Given the description of an element on the screen output the (x, y) to click on. 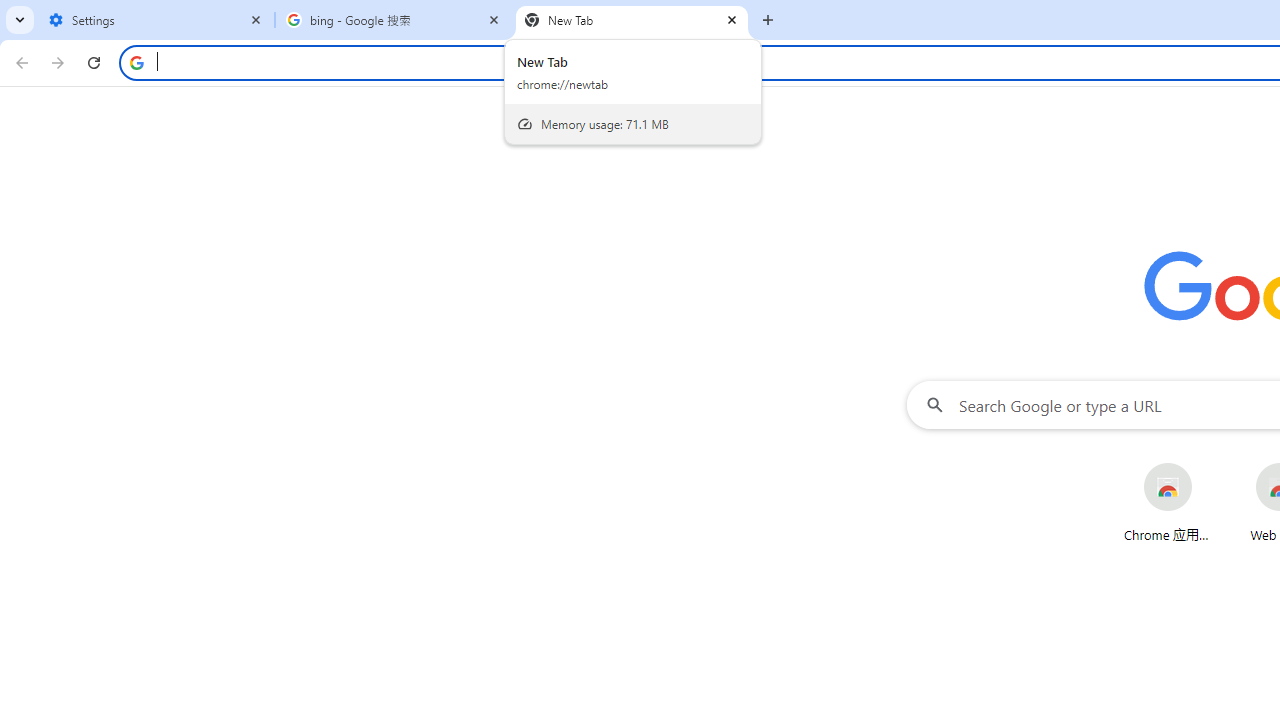
New Tab (632, 20)
Settings (156, 20)
